Given the description of an element on the screen output the (x, y) to click on. 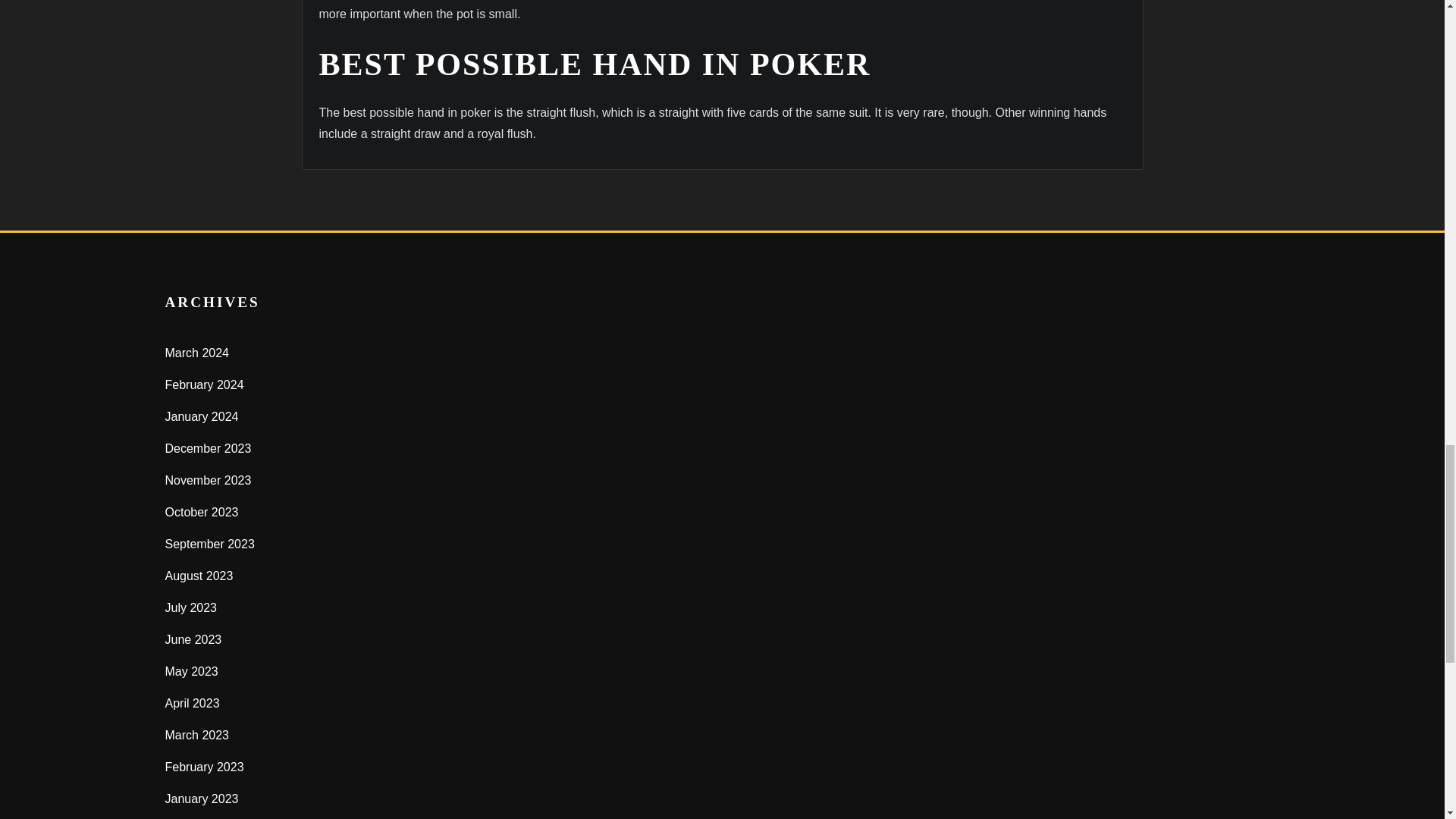
March 2023 (197, 735)
November 2023 (208, 480)
October 2023 (201, 512)
June 2023 (193, 639)
January 2024 (201, 416)
February 2024 (204, 384)
March 2024 (197, 352)
May 2023 (191, 671)
April 2023 (192, 703)
September 2023 (209, 543)
